Given the description of an element on the screen output the (x, y) to click on. 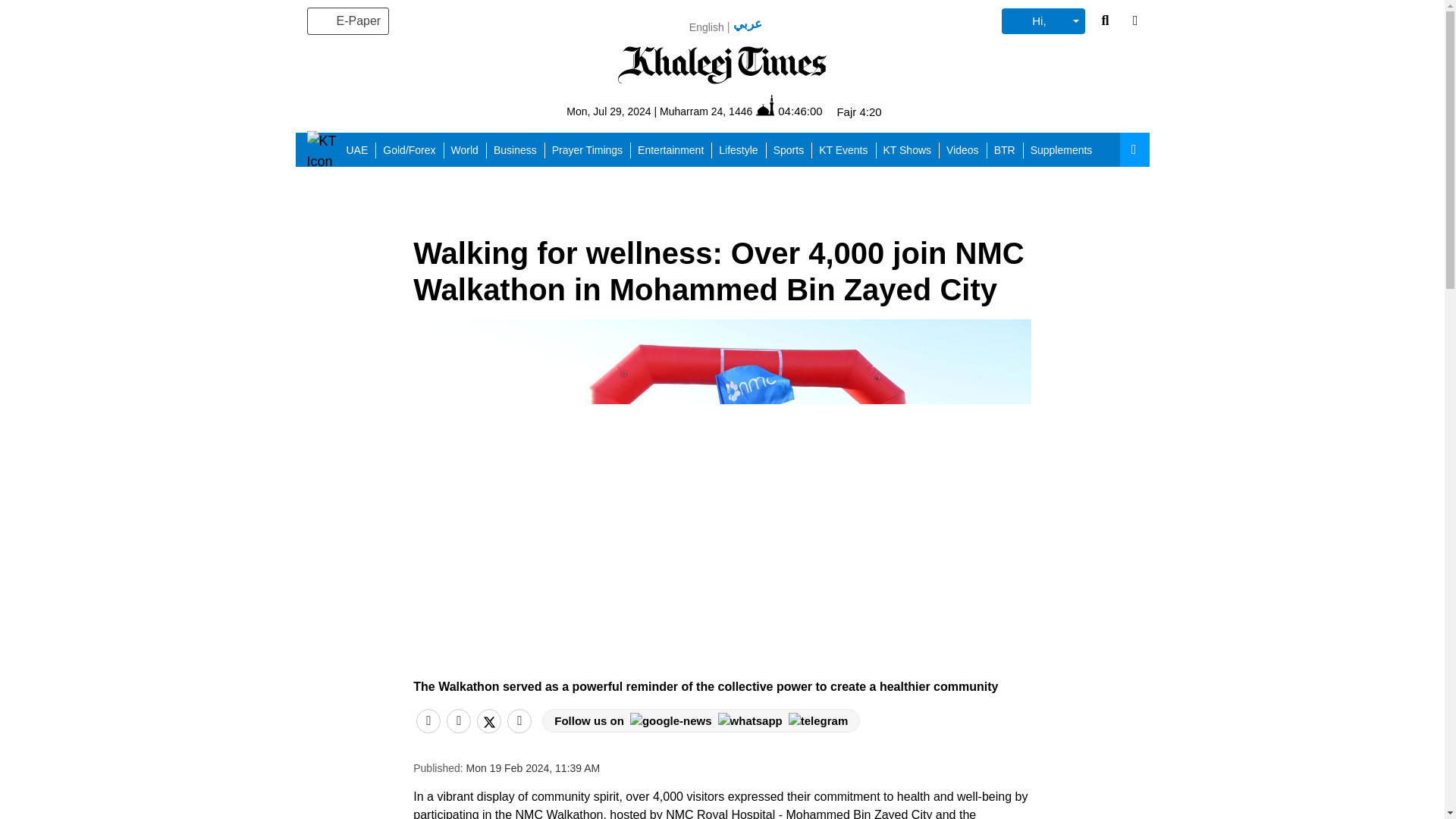
Fajr 4:20 (857, 111)
E-Paper (346, 21)
04:46:00 (788, 110)
Hi, (1042, 21)
